Given the description of an element on the screen output the (x, y) to click on. 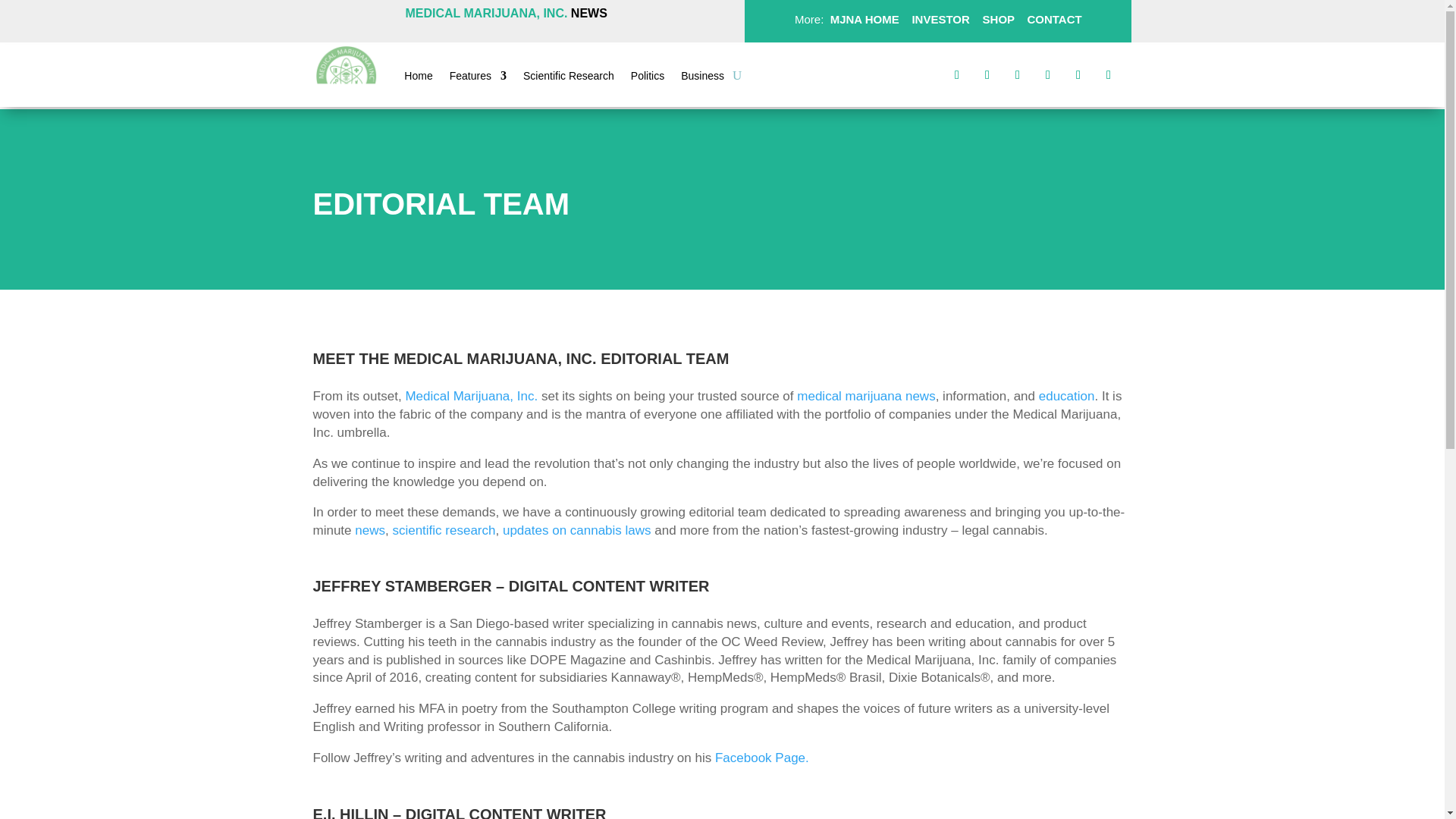
Follow on Facebook (956, 74)
MJNA HOME (862, 19)
Features (477, 78)
 SHOP (995, 19)
Business (702, 78)
logo-medical-marijuana-inc (345, 76)
Follow on Pinterest (1047, 74)
Scientific Research (568, 78)
Follow on Youtube (1108, 74)
Politics (646, 78)
